Given the description of an element on the screen output the (x, y) to click on. 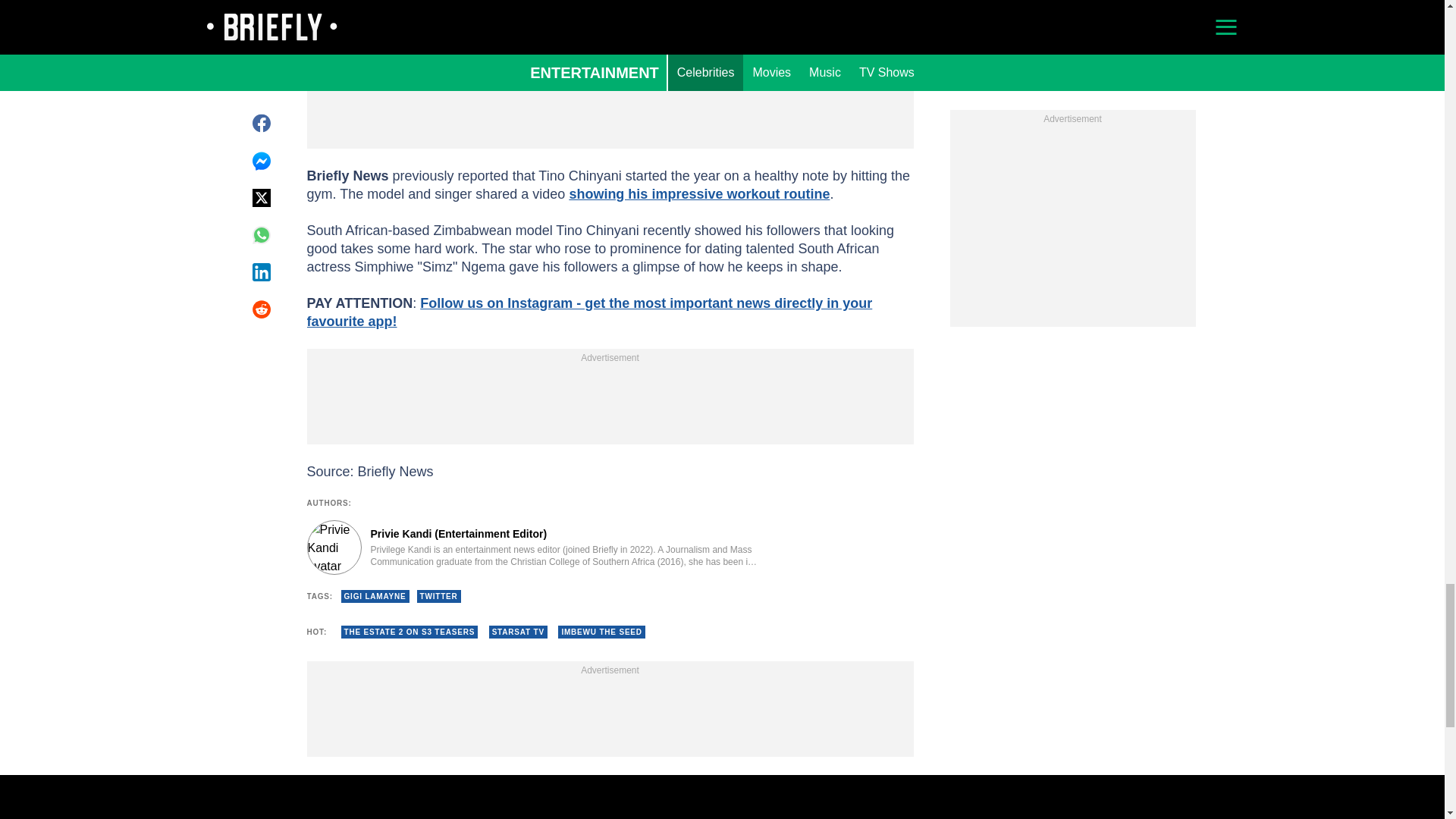
Author page (533, 547)
